Given the description of an element on the screen output the (x, y) to click on. 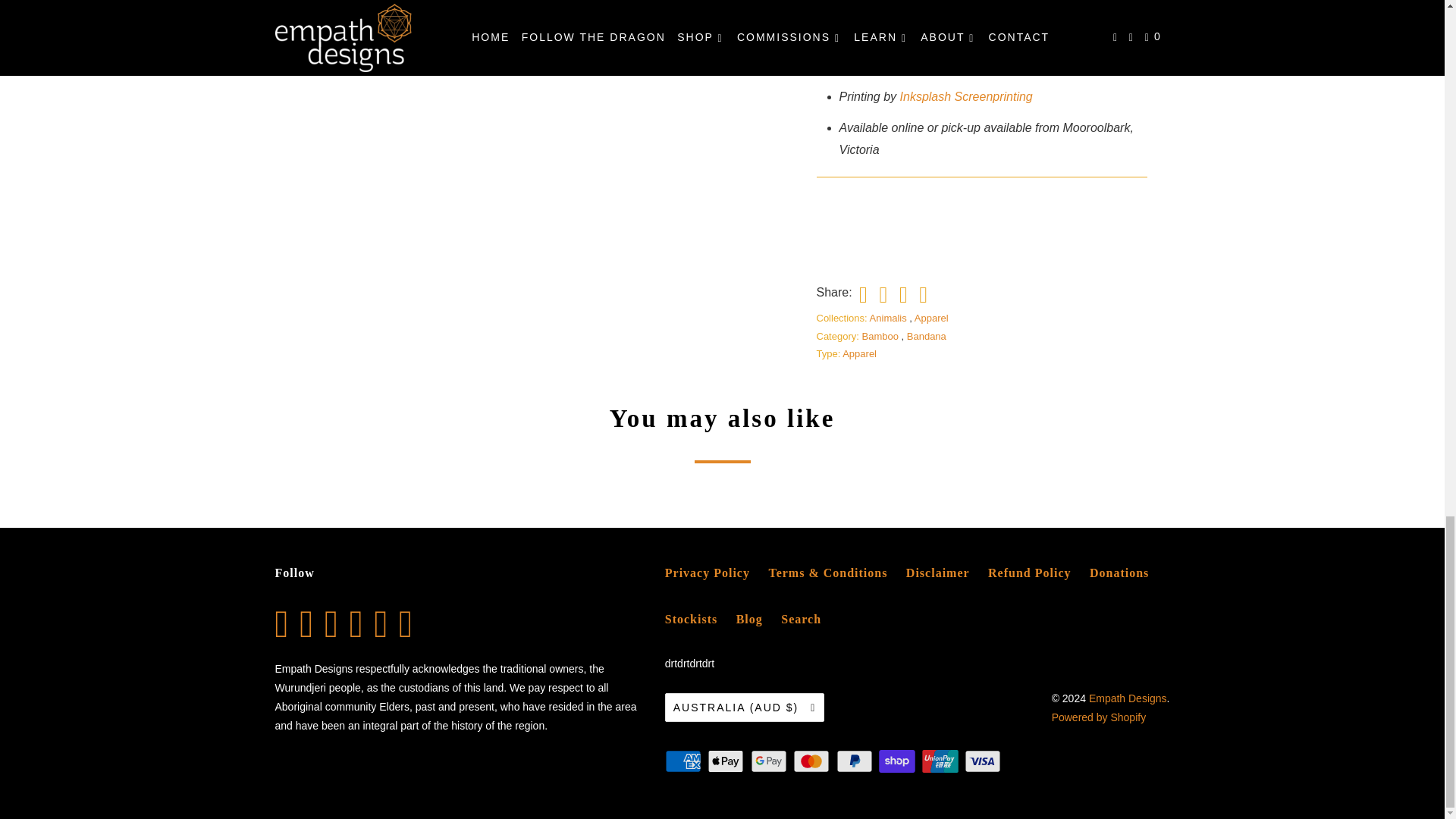
Shop Pay (898, 761)
Visa (983, 761)
Union Pay (940, 761)
American Express (684, 761)
Google Pay (770, 761)
Apple Pay (726, 761)
PayPal (855, 761)
Mastercard (812, 761)
